Given the description of an element on the screen output the (x, y) to click on. 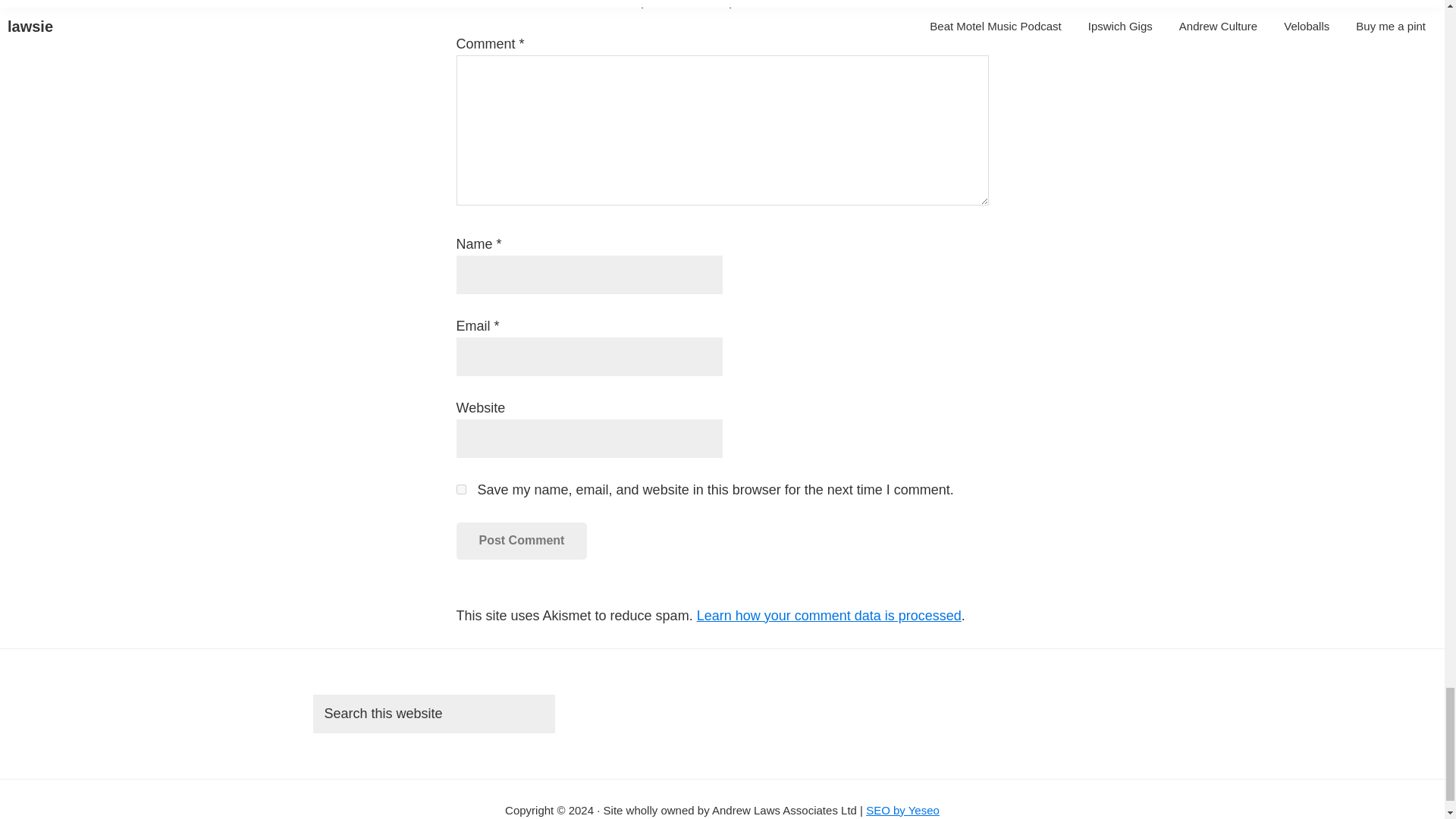
SEO by Yeseo (902, 809)
Post Comment (522, 540)
Post Comment (522, 540)
Learn how your comment data is processed (828, 615)
yes (461, 489)
